Given the description of an element on the screen output the (x, y) to click on. 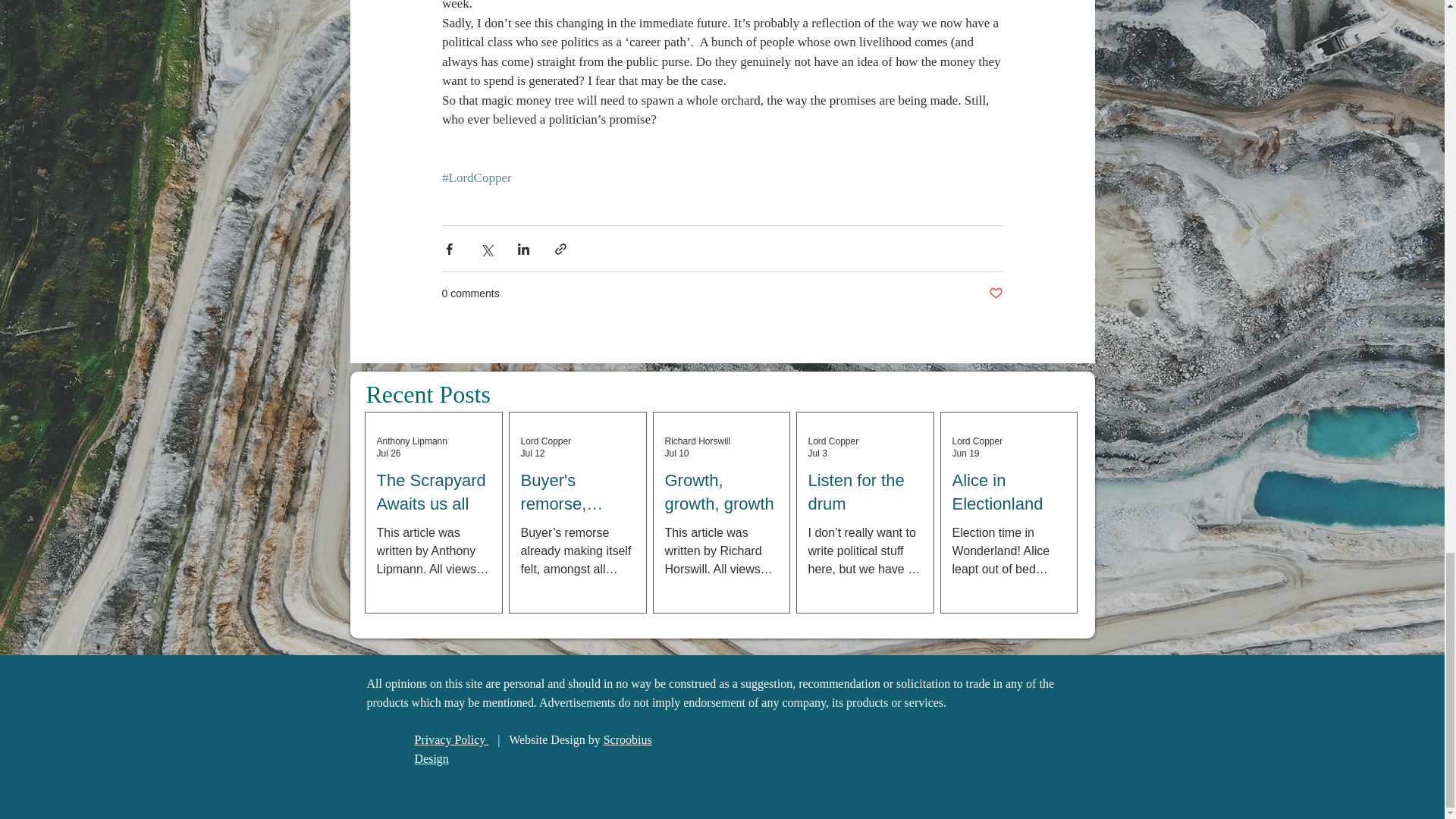
Scroobius Design (531, 749)
Anthony Lipmann (410, 440)
Post not marked as liked (995, 293)
Buyer's remorse, anyone? (576, 492)
Richard Horswill (696, 440)
Jul 12 (531, 452)
Jul 10 (675, 452)
Jul 26 (387, 452)
Jul 3 (817, 452)
Lord Copper (544, 440)
